Given the description of an element on the screen output the (x, y) to click on. 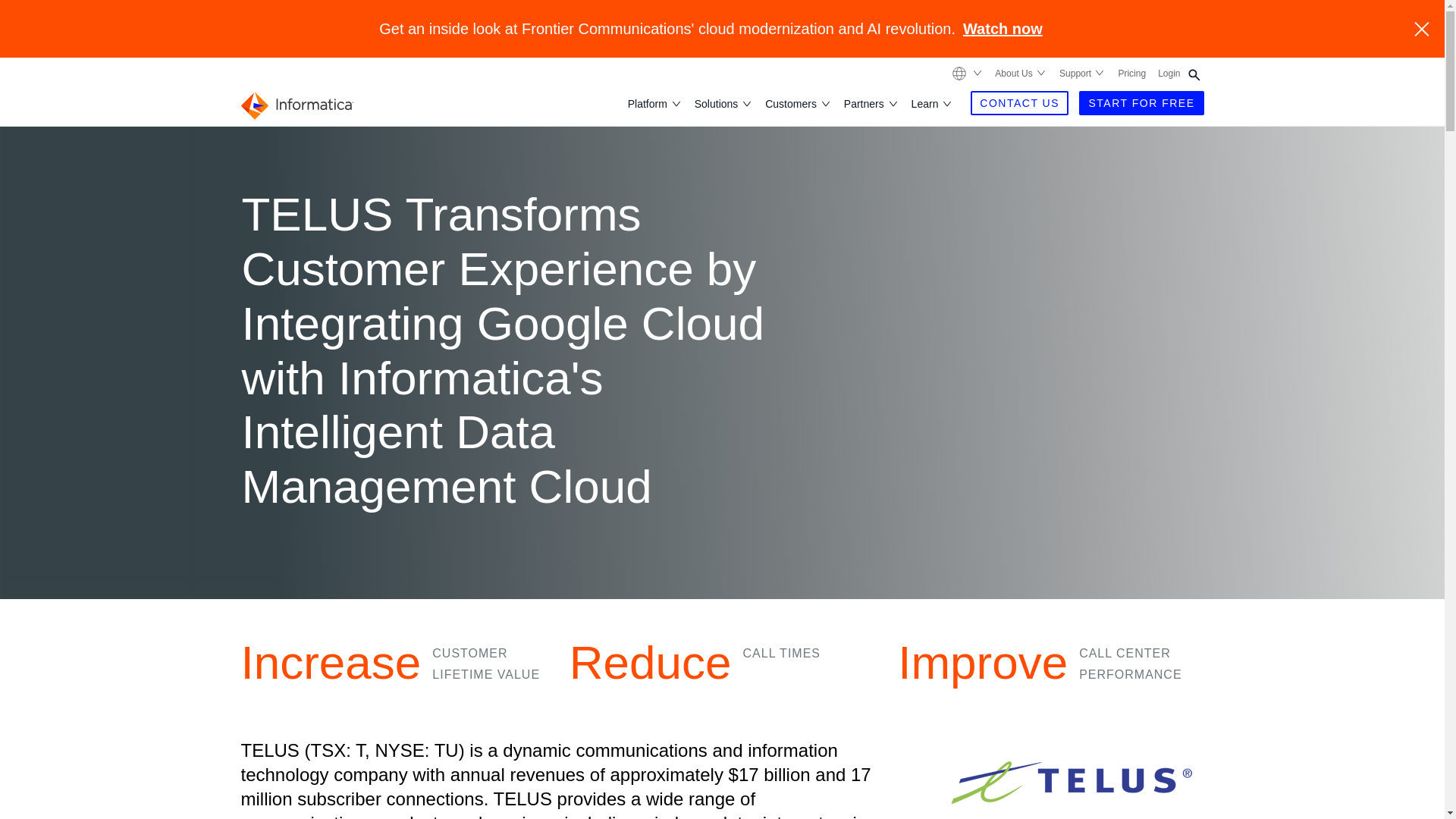
Solutions (717, 103)
Platform (648, 103)
Watch now (1002, 28)
